Given the description of an element on the screen output the (x, y) to click on. 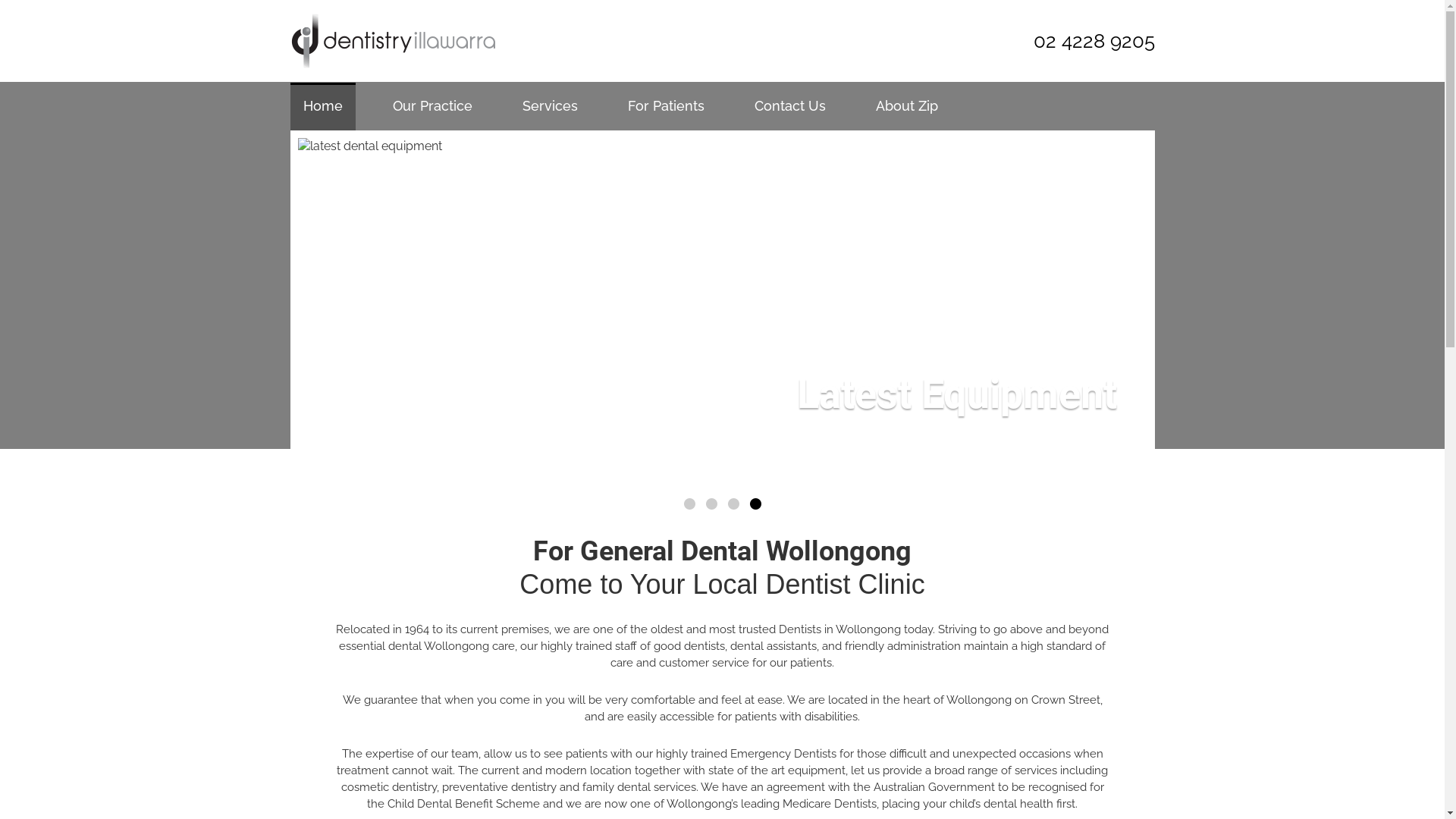
Home Element type: text (321, 106)
For Patients Element type: text (665, 106)
Our Practice Element type: text (431, 106)
Services Element type: text (549, 106)
1 Element type: text (689, 503)
02 4228 9205 Element type: text (1075, 41)
Previous Element type: text (328, 308)
3 Element type: text (733, 503)
Contact Us Element type: text (789, 106)
2 Element type: text (710, 503)
Next Element type: text (1114, 308)
4 Element type: text (754, 503)
About Zip Element type: text (906, 106)
